Given the description of an element on the screen output the (x, y) to click on. 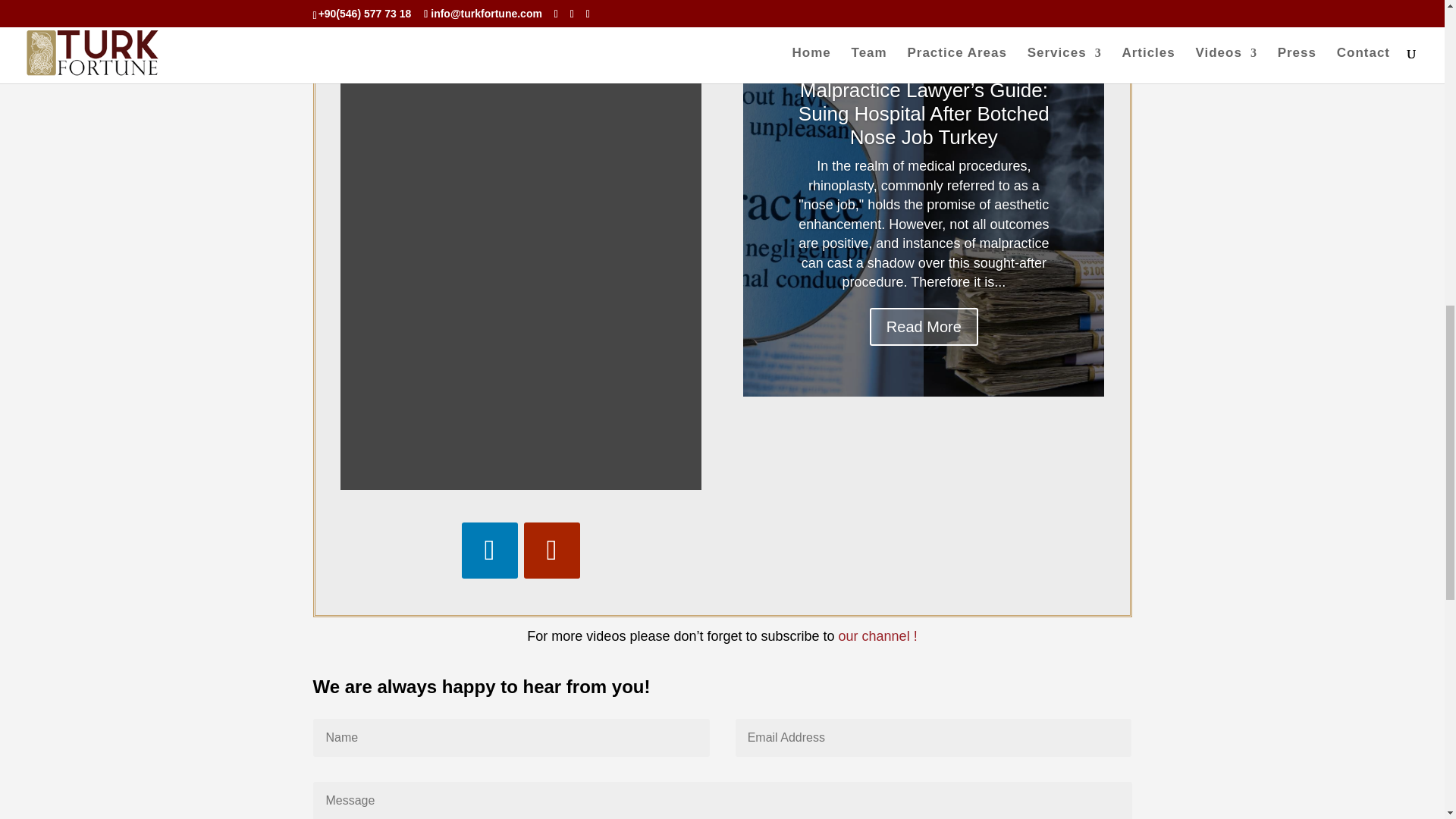
Follow on Youtube (551, 550)
Read More (923, 326)
Follow on LinkedIn (489, 550)
